Given the description of an element on the screen output the (x, y) to click on. 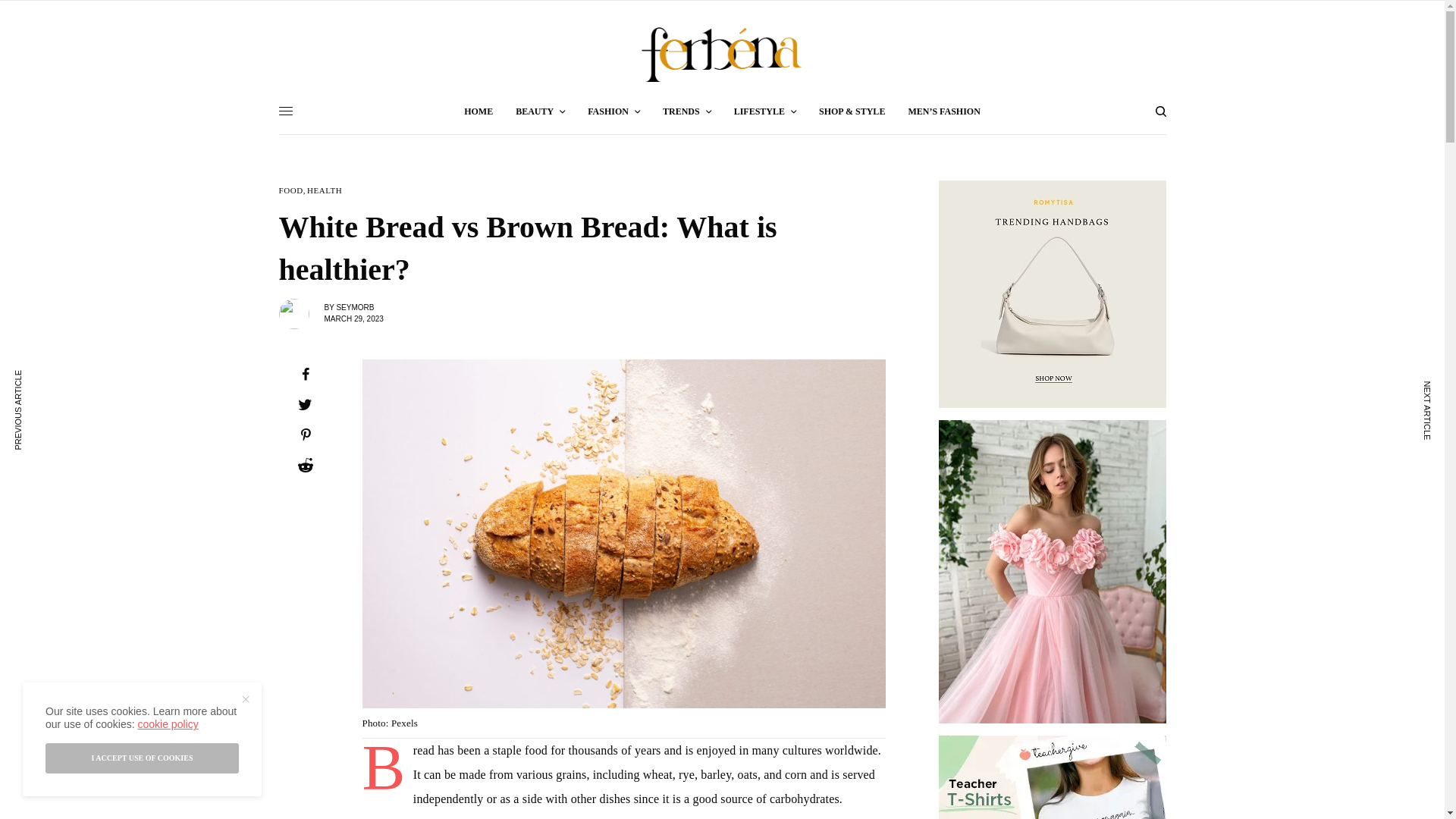
FOOD (290, 190)
TRENDS (686, 111)
teacher t shirts (1052, 777)
BEAUTY (539, 111)
LIFESTYLE (764, 111)
baguette bags (1052, 293)
FASHION (614, 111)
Posts by SeymorB (355, 307)
HEALTH (324, 190)
Ferbena.com (722, 54)
SEYMORB (355, 307)
